Given the description of an element on the screen output the (x, y) to click on. 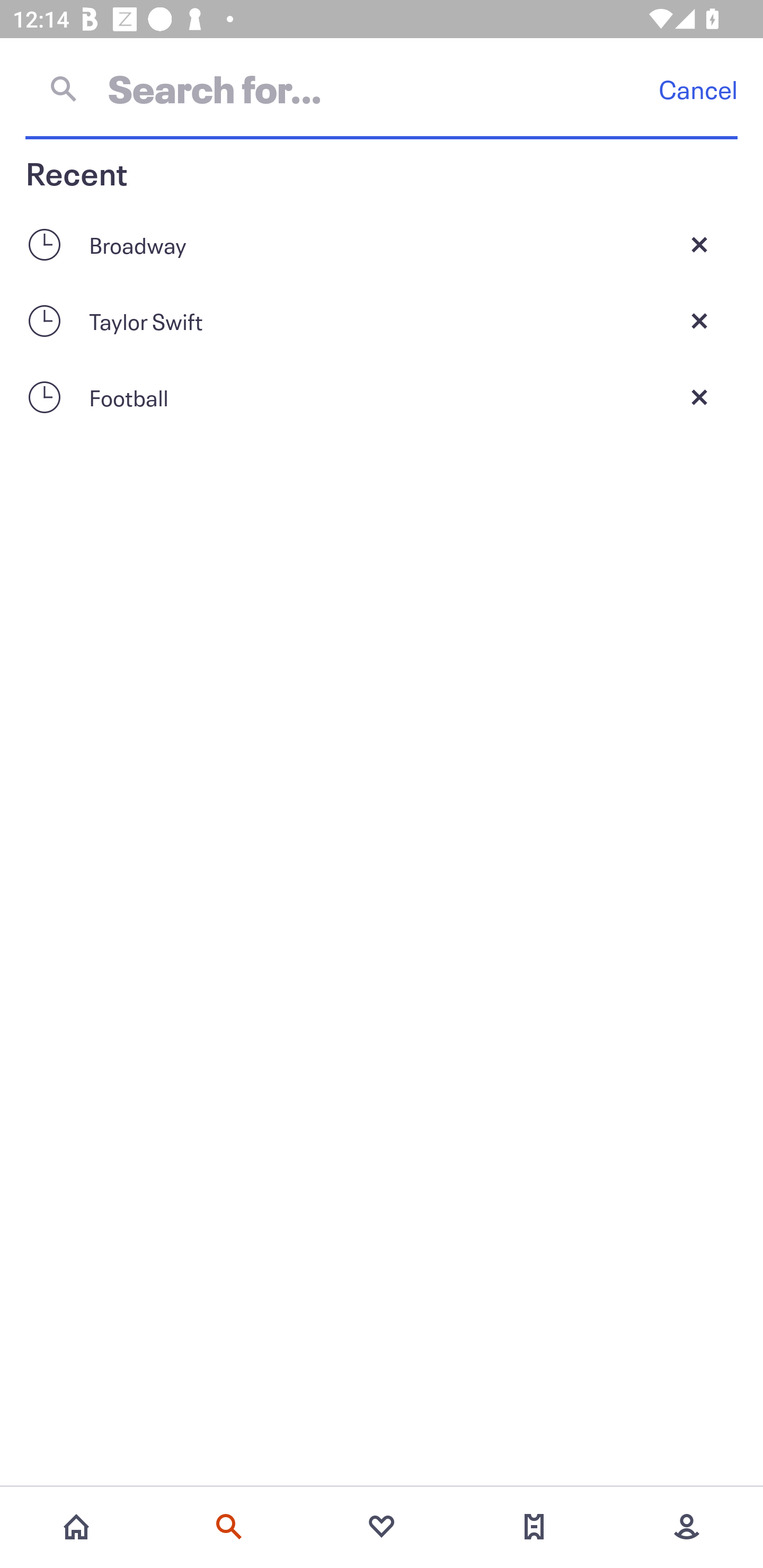
Cancel Search for… (381, 88)
Cancel (697, 89)
Broadway Close current screen (381, 244)
Close current screen (699, 244)
Taylor Swift Close current screen (381, 320)
Close current screen (699, 320)
Football Close current screen (381, 397)
Close current screen (699, 397)
Home (76, 1526)
Search events (228, 1526)
Favorites (381, 1526)
Tickets (533, 1526)
More (686, 1526)
